Given the description of an element on the screen output the (x, y) to click on. 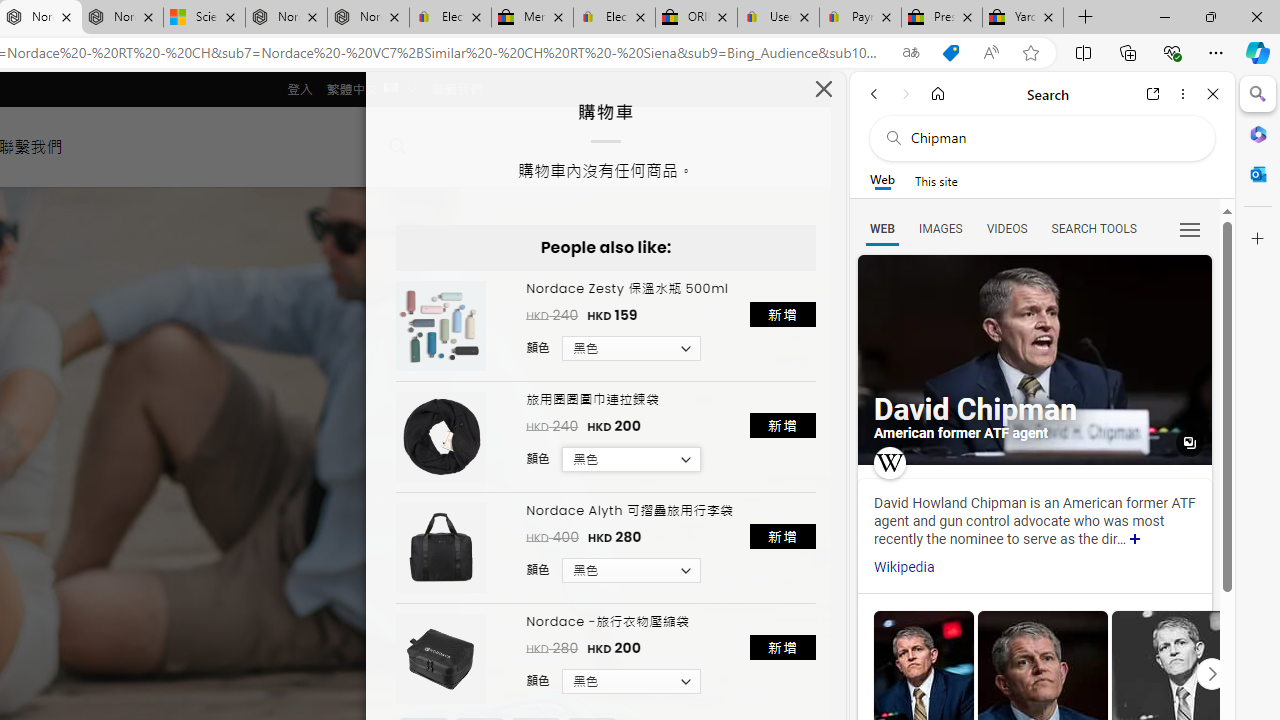
Class: feather feather-x (824, 88)
Click to scroll right (1211, 672)
Press Room - eBay Inc. (941, 17)
User Privacy Notice | eBay (778, 17)
  0   (464, 146)
